Given the description of an element on the screen output the (x, y) to click on. 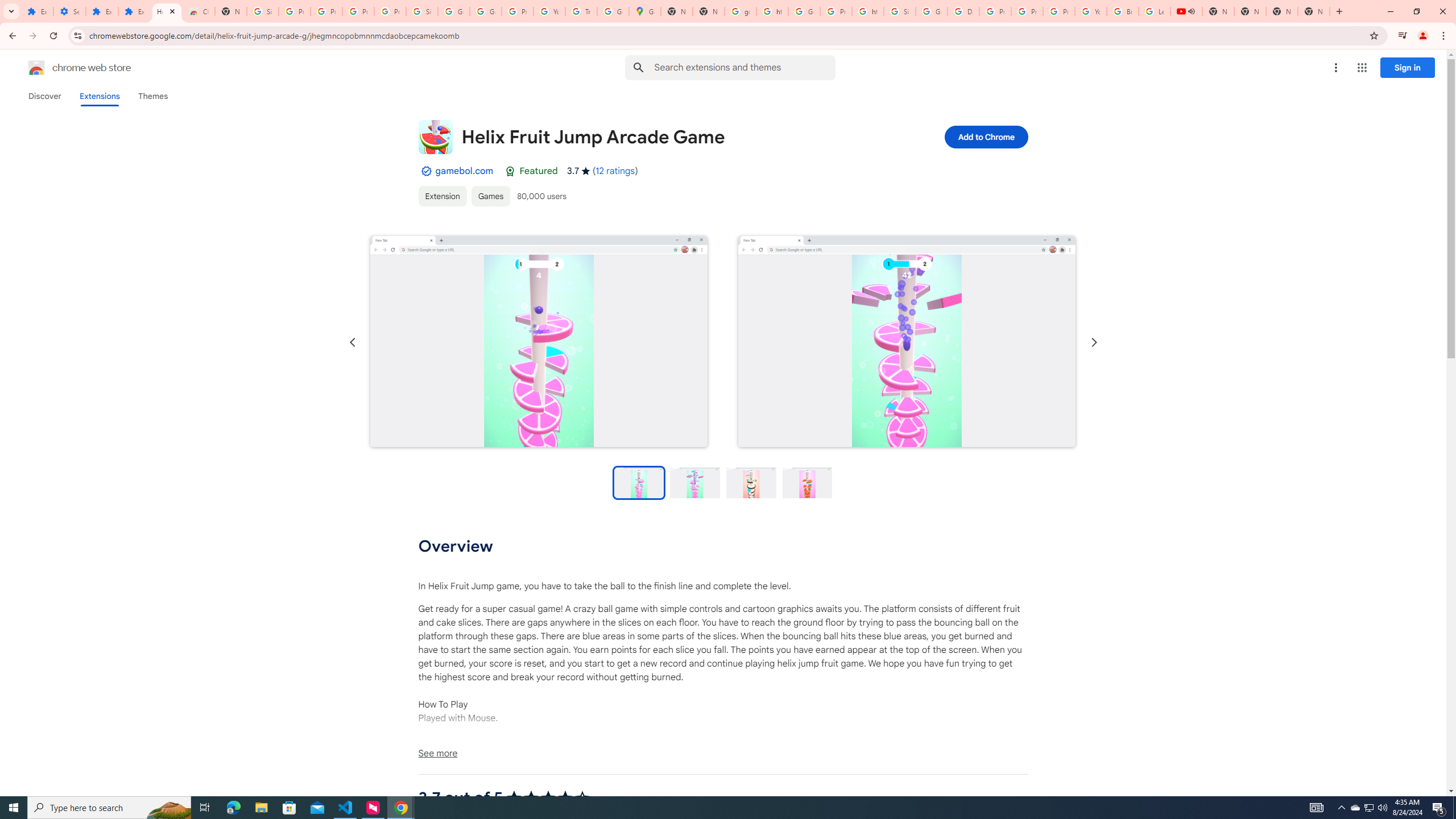
Extensions (37, 11)
https://scholar.google.com/ (868, 11)
Preview slide 2 (694, 482)
Extensions (99, 95)
Chrome Web Store logo chrome web store (67, 67)
YouTube (1091, 11)
Extensions (134, 11)
Chrome Web Store - Themes (198, 11)
